Given the description of an element on the screen output the (x, y) to click on. 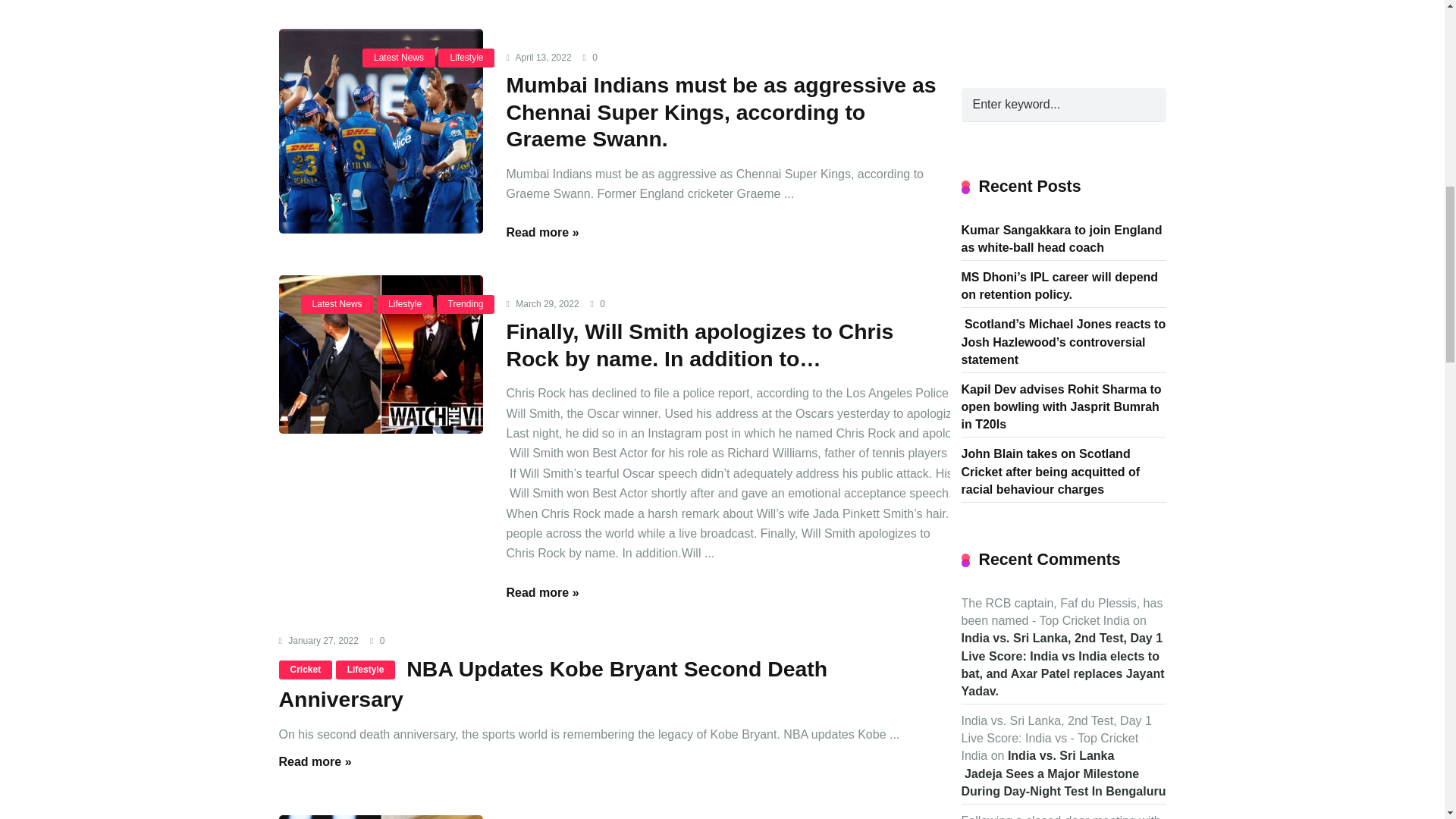
Read more (541, 232)
Trending (465, 303)
Latest News (398, 57)
Lifestyle (466, 57)
Lifestyle (366, 669)
Latest News (337, 303)
Cricket (306, 669)
Lifestyle (404, 303)
